Given the description of an element on the screen output the (x, y) to click on. 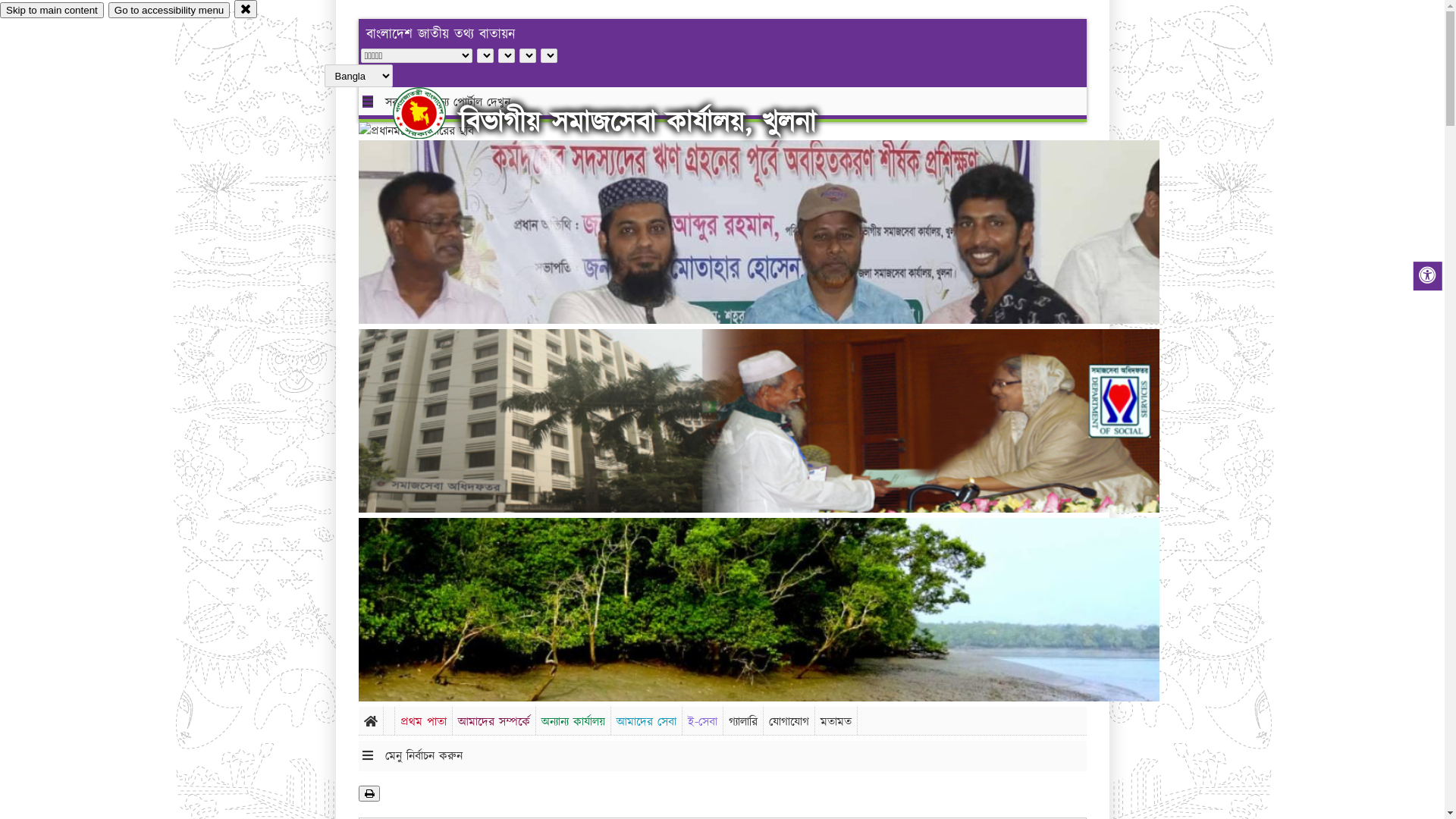
Skip to main content Element type: text (51, 10)
Go to accessibility menu Element type: text (168, 10)

                
             Element type: hover (431, 112)
close Element type: hover (245, 9)
